Given the description of an element on the screen output the (x, y) to click on. 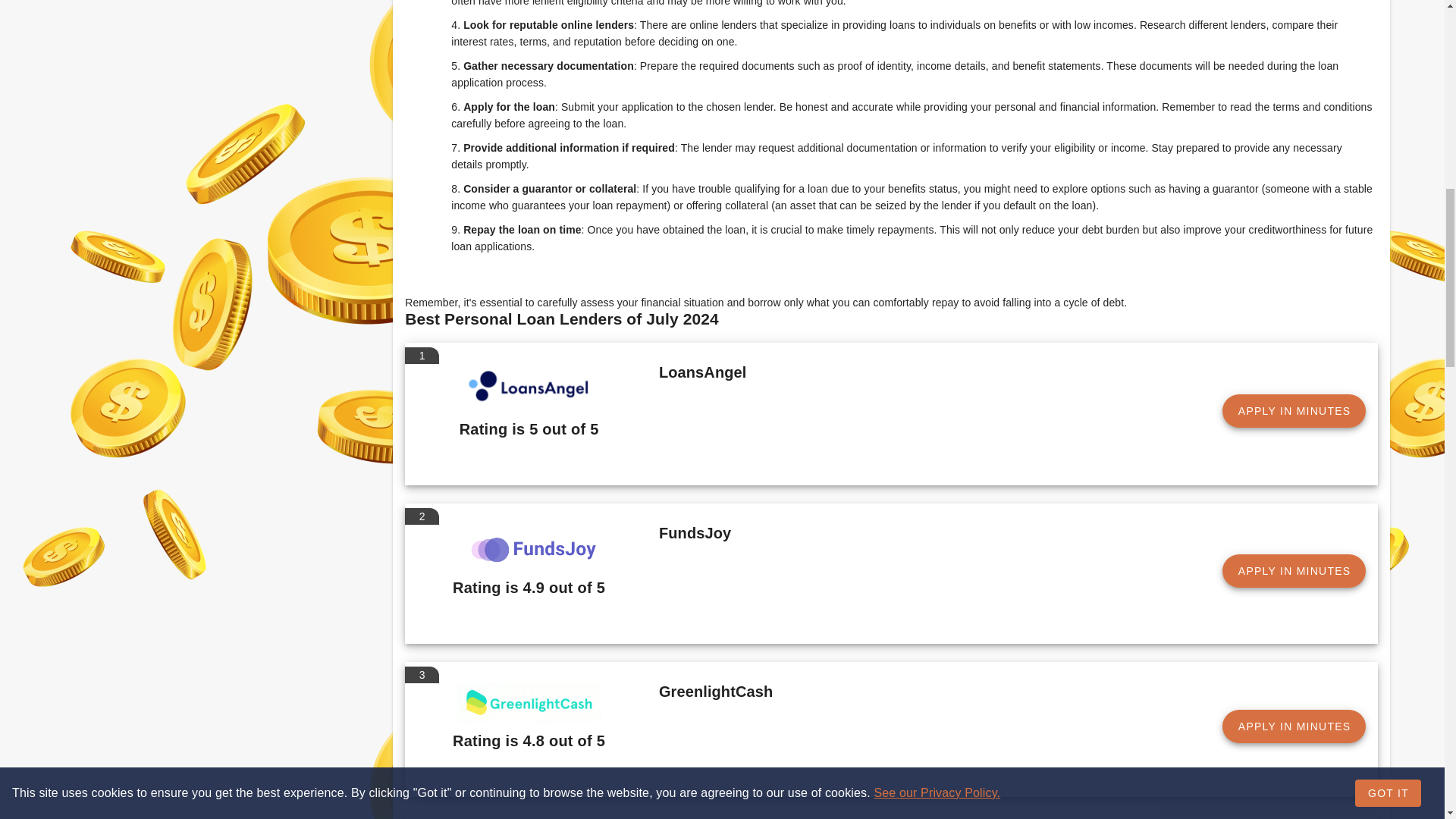
APPLY IN MINUTES (1294, 726)
APPLY IN MINUTES (1294, 571)
APPLY IN MINUTES (1294, 410)
